Given the description of an element on the screen output the (x, y) to click on. 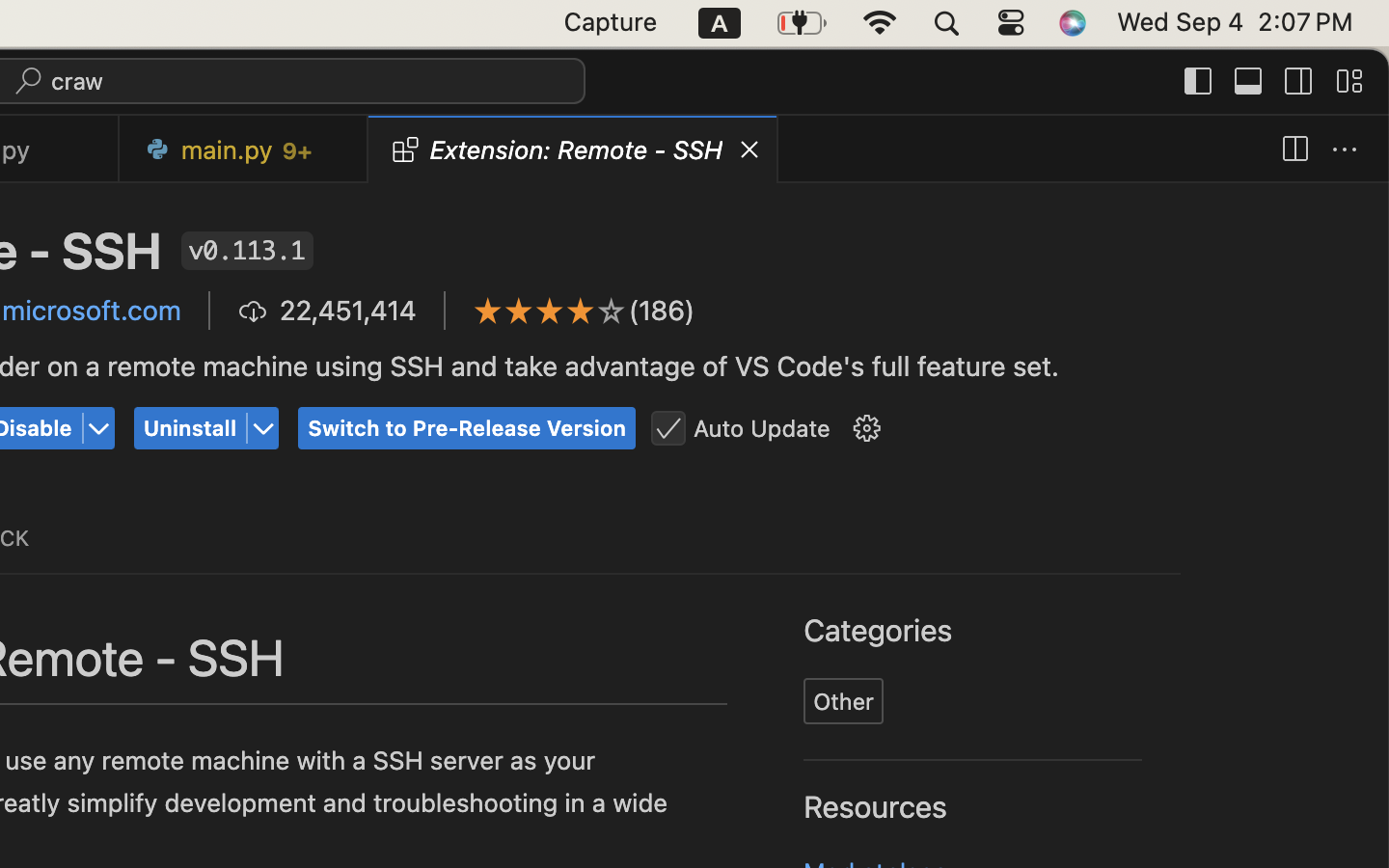
1 Extension: Remote - SSH   Element type: AXRadioButton (556, 149)
 Element type: AXCheckBox (668, 428)
v0.113.1 Element type: AXStaticText (247, 250)
Other Element type: AXGroup (844, 701)
0 main.py   Element type: AXRadioButton (235, 149)
